Given the description of an element on the screen output the (x, y) to click on. 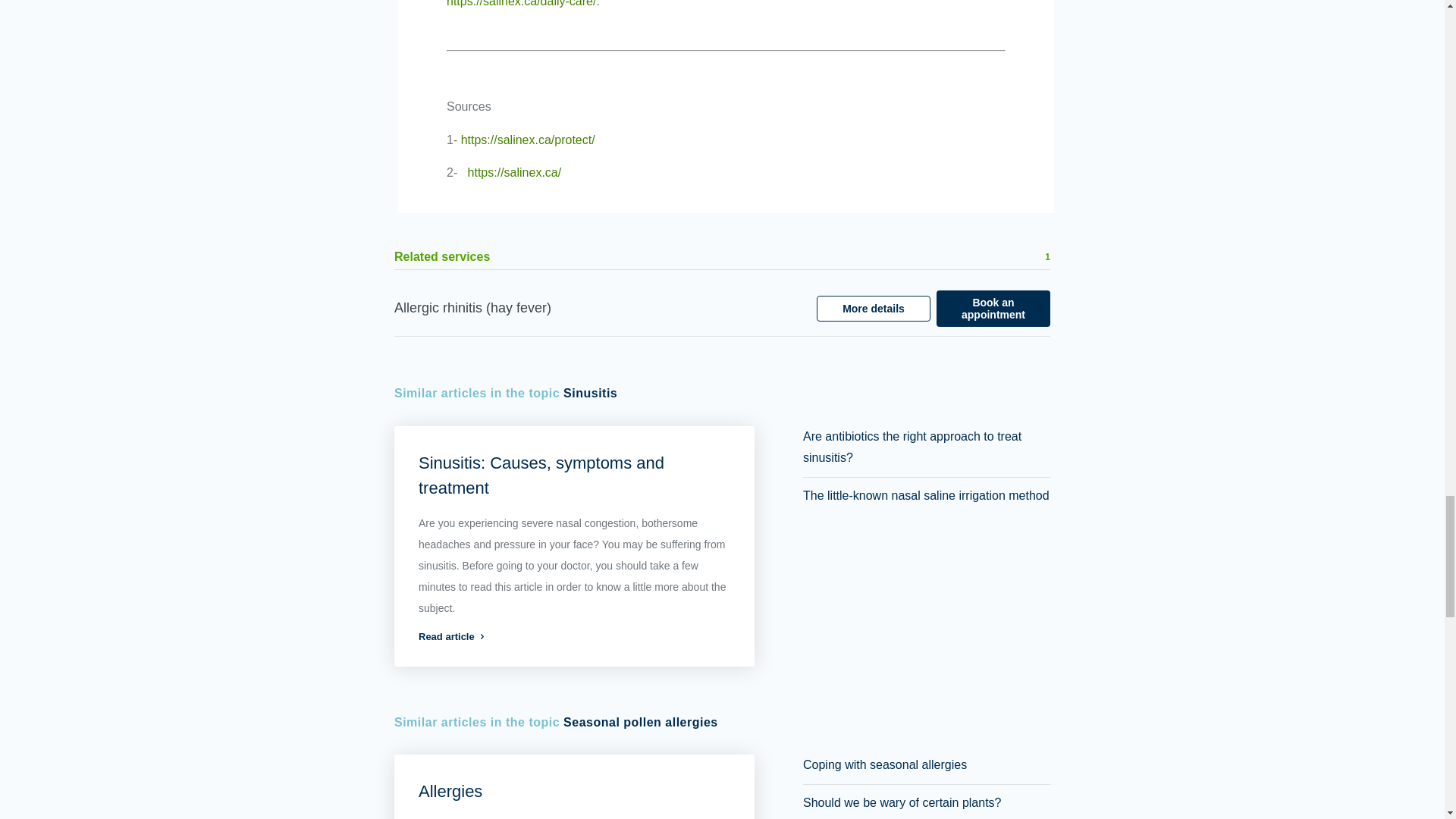
Are antibiotics the right approach to treat sinusitis? (912, 446)
The little-known nasal saline irrigation method (926, 495)
Coping with seasonal allergies (884, 764)
Sinusitis: Causes, symptoms and treatment (541, 475)
Sinusitis (590, 393)
Allergies (450, 791)
Read article (574, 636)
More details (873, 308)
Seasonal pollen allergies (640, 722)
Should we be wary of certain plants? (902, 802)
Book an appointment (992, 308)
